Given the description of an element on the screen output the (x, y) to click on. 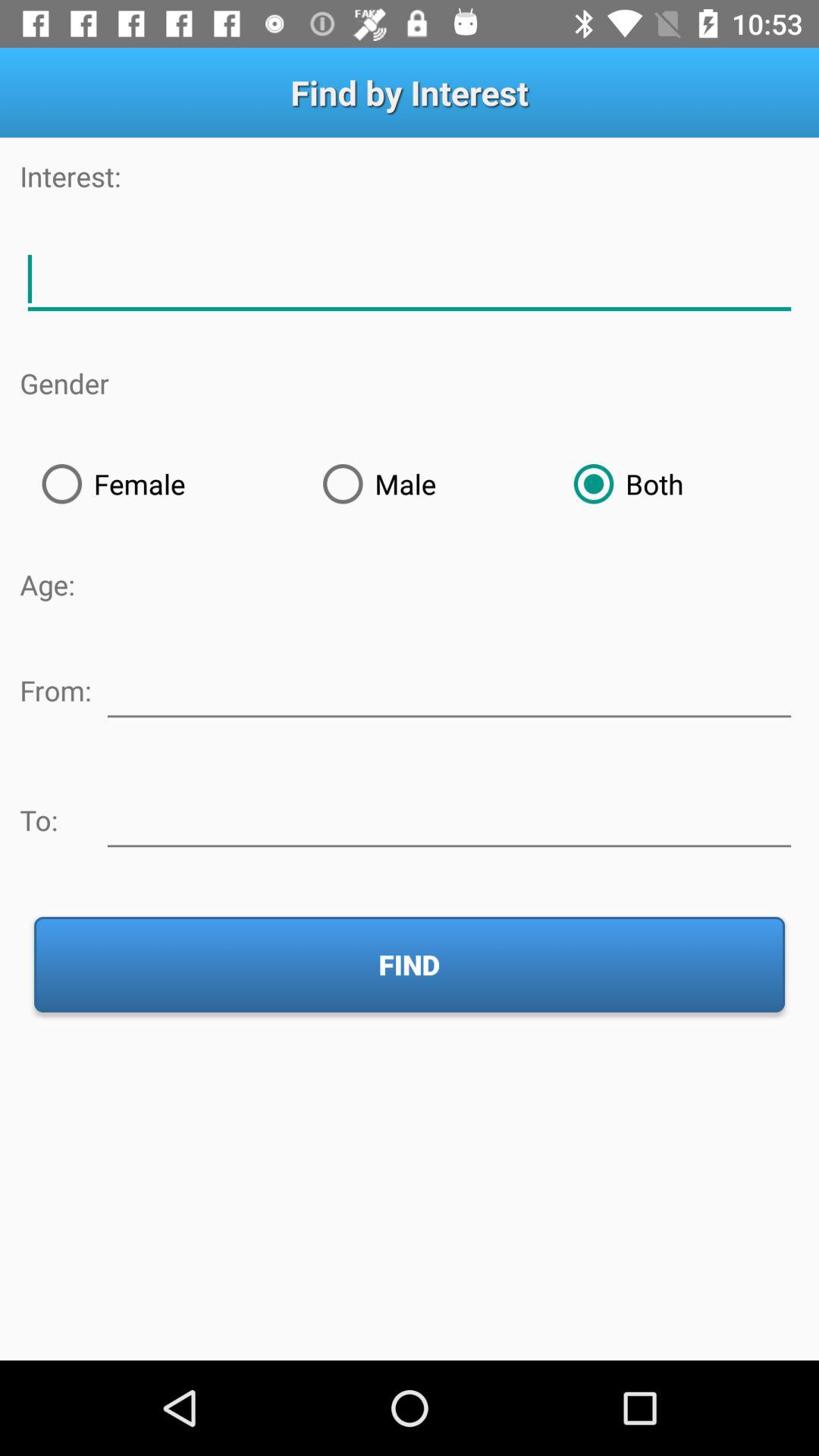
text adding option (409, 279)
